Given the description of an element on the screen output the (x, y) to click on. 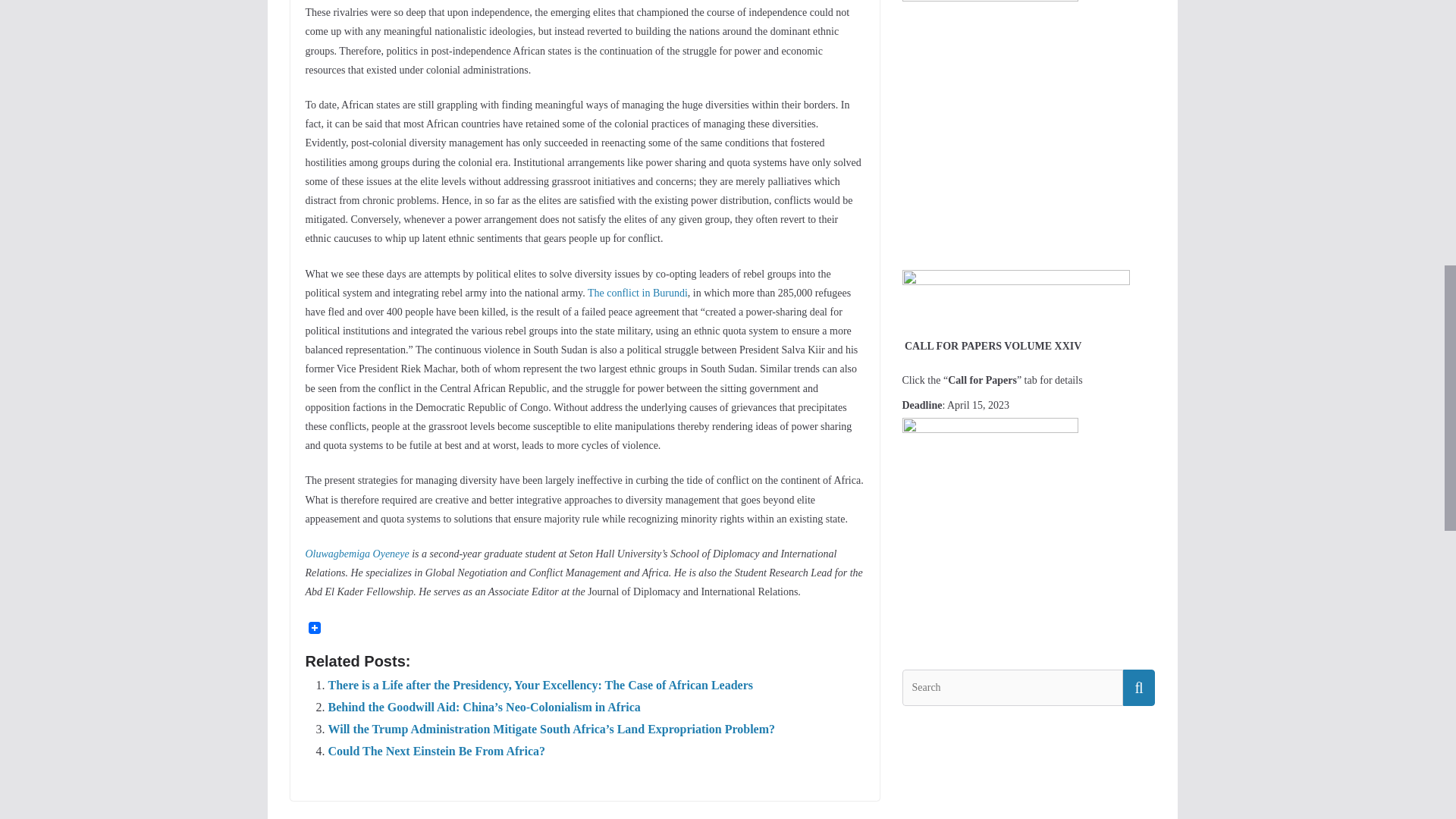
Oluwagbemiga Oyeneye (356, 553)
The conflict in Burundi (637, 292)
